Given the description of an element on the screen output the (x, y) to click on. 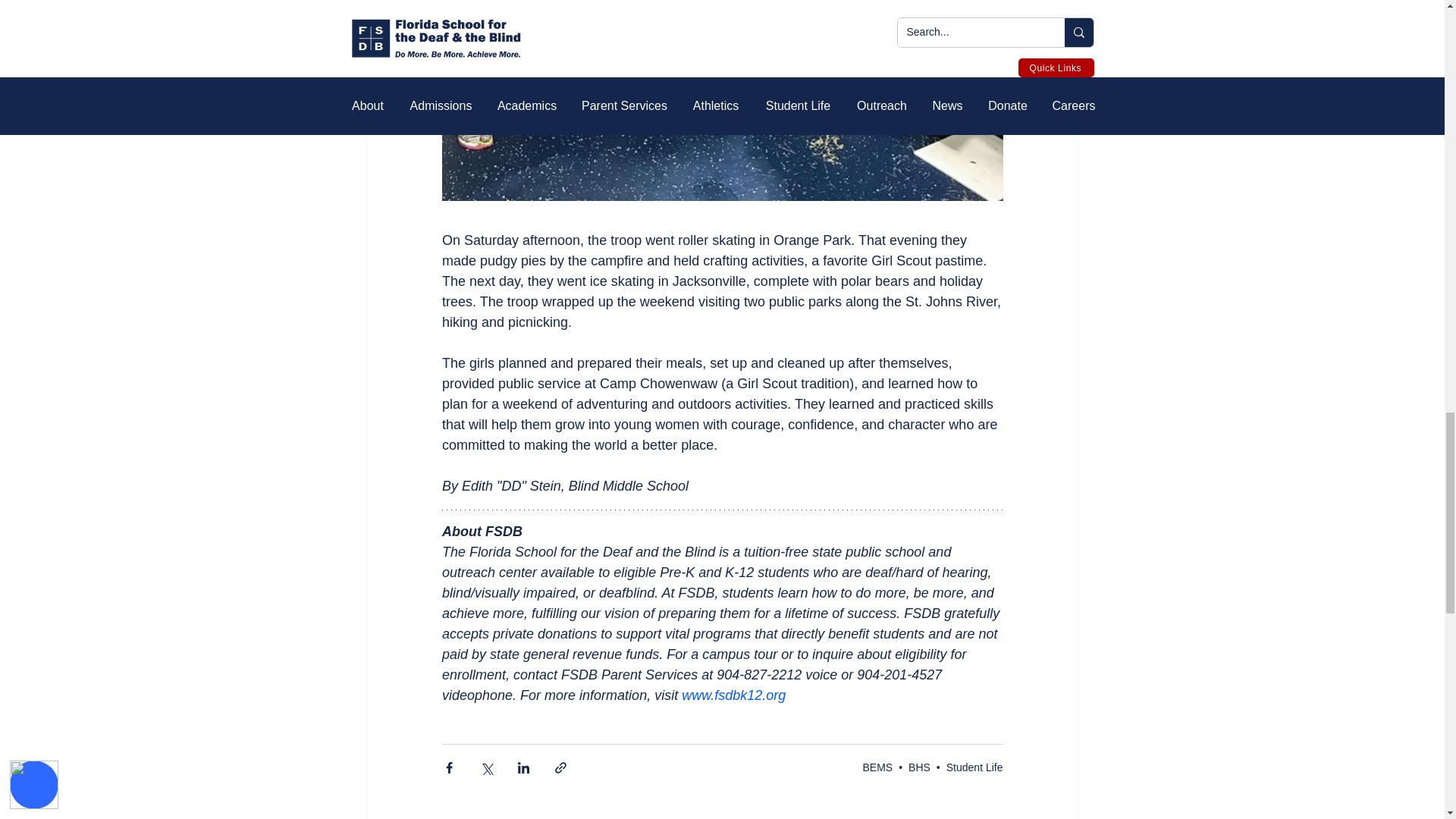
www.fsdbk12.org (733, 694)
BEMS (876, 767)
BHS (919, 767)
Student Life (974, 767)
